Given the description of an element on the screen output the (x, y) to click on. 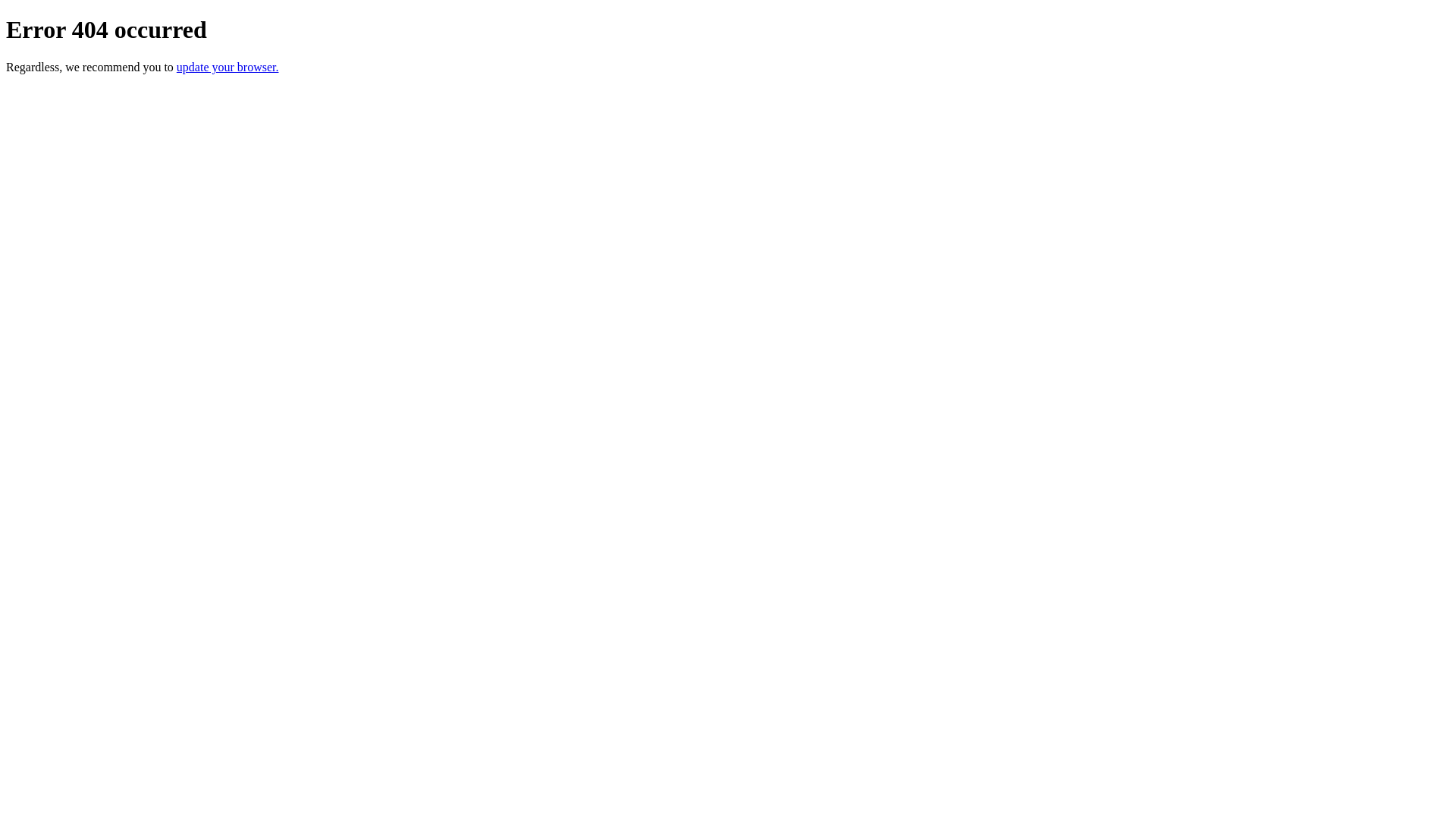
update your browser. Element type: text (227, 66)
